Given the description of an element on the screen output the (x, y) to click on. 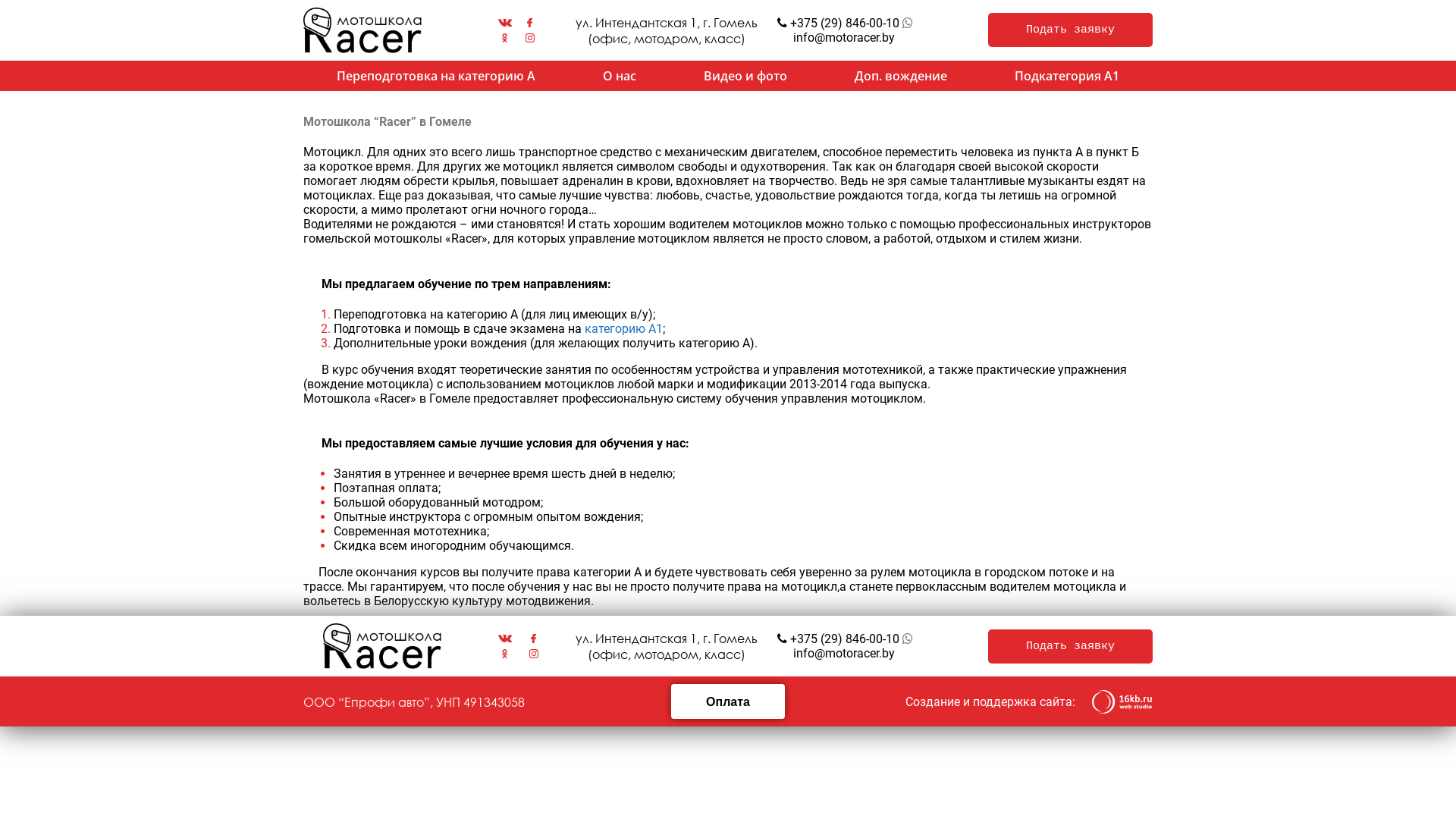
info@motoracer.by Element type: text (839, 37)
+375 (29) 846-00-10 Element type: text (843, 638)
info@motoracer.by Element type: text (843, 653)
+375 (29) 846-00-10 Element type: text (843, 22)
